Given the description of an element on the screen output the (x, y) to click on. 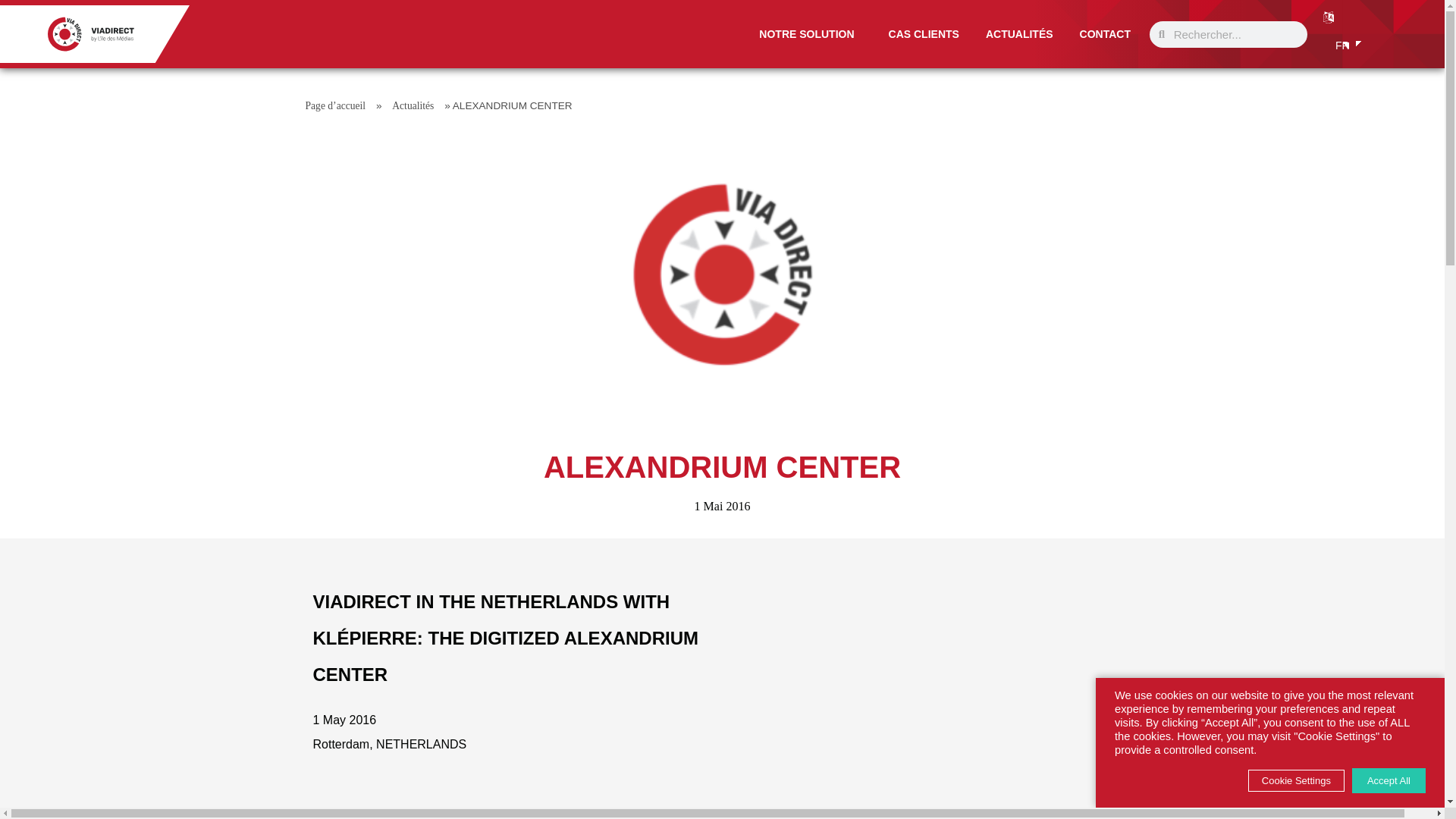
CAS CLIENTS (924, 33)
CONTACT (1104, 33)
NOTRE SOLUTION (810, 33)
